Given the description of an element on the screen output the (x, y) to click on. 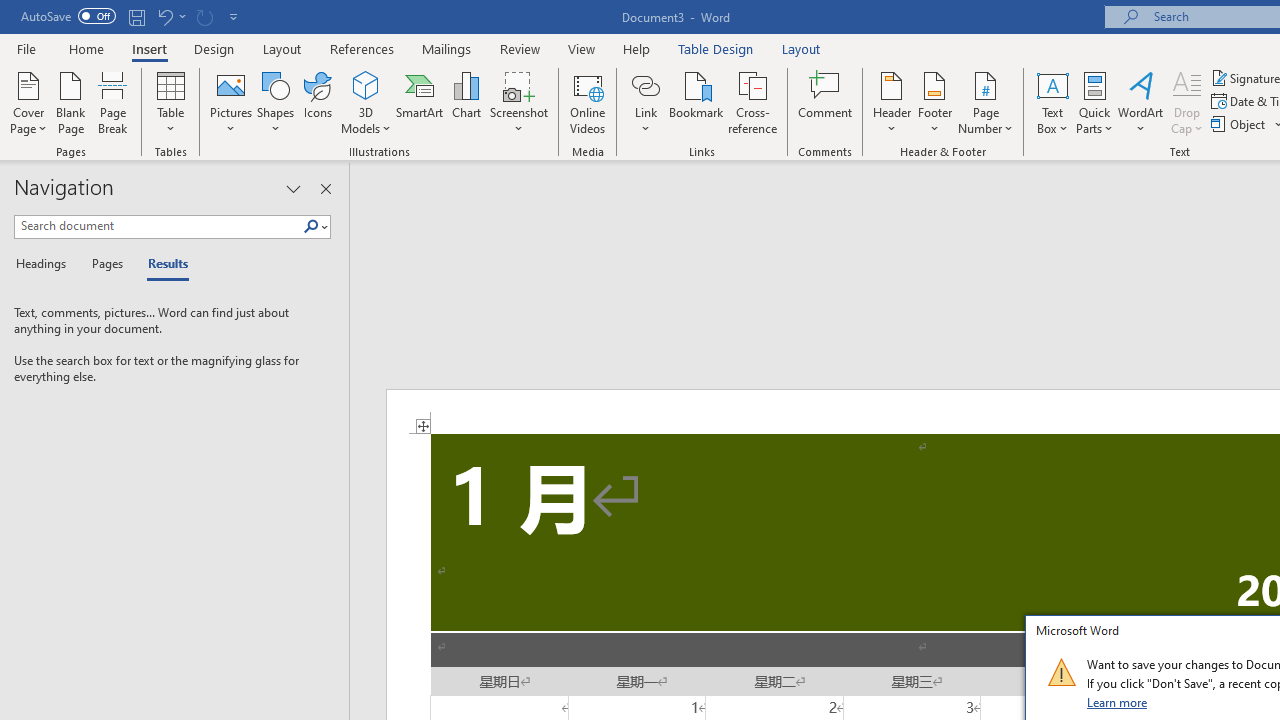
Cross-reference... (752, 102)
Footer (934, 102)
Text Box (1052, 102)
Page Number (986, 102)
Link (645, 84)
WordArt (1141, 102)
3D Models (366, 84)
Table (170, 102)
Undo Apply Quick Style (170, 15)
